Given the description of an element on the screen output the (x, y) to click on. 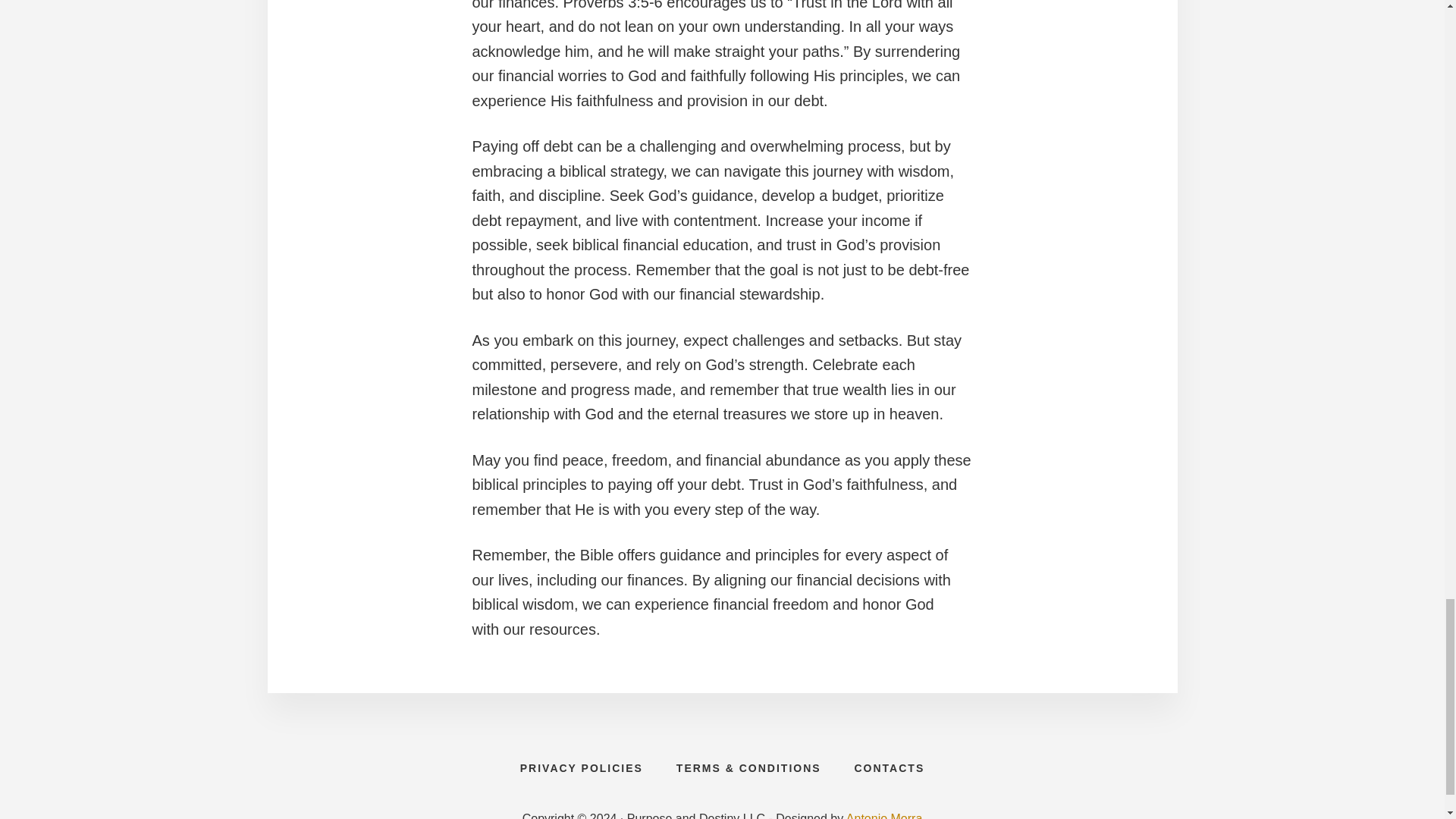
Antonio Morra (884, 815)
CONTACTS (888, 767)
PRIVACY POLICIES (581, 767)
